Given the description of an element on the screen output the (x, y) to click on. 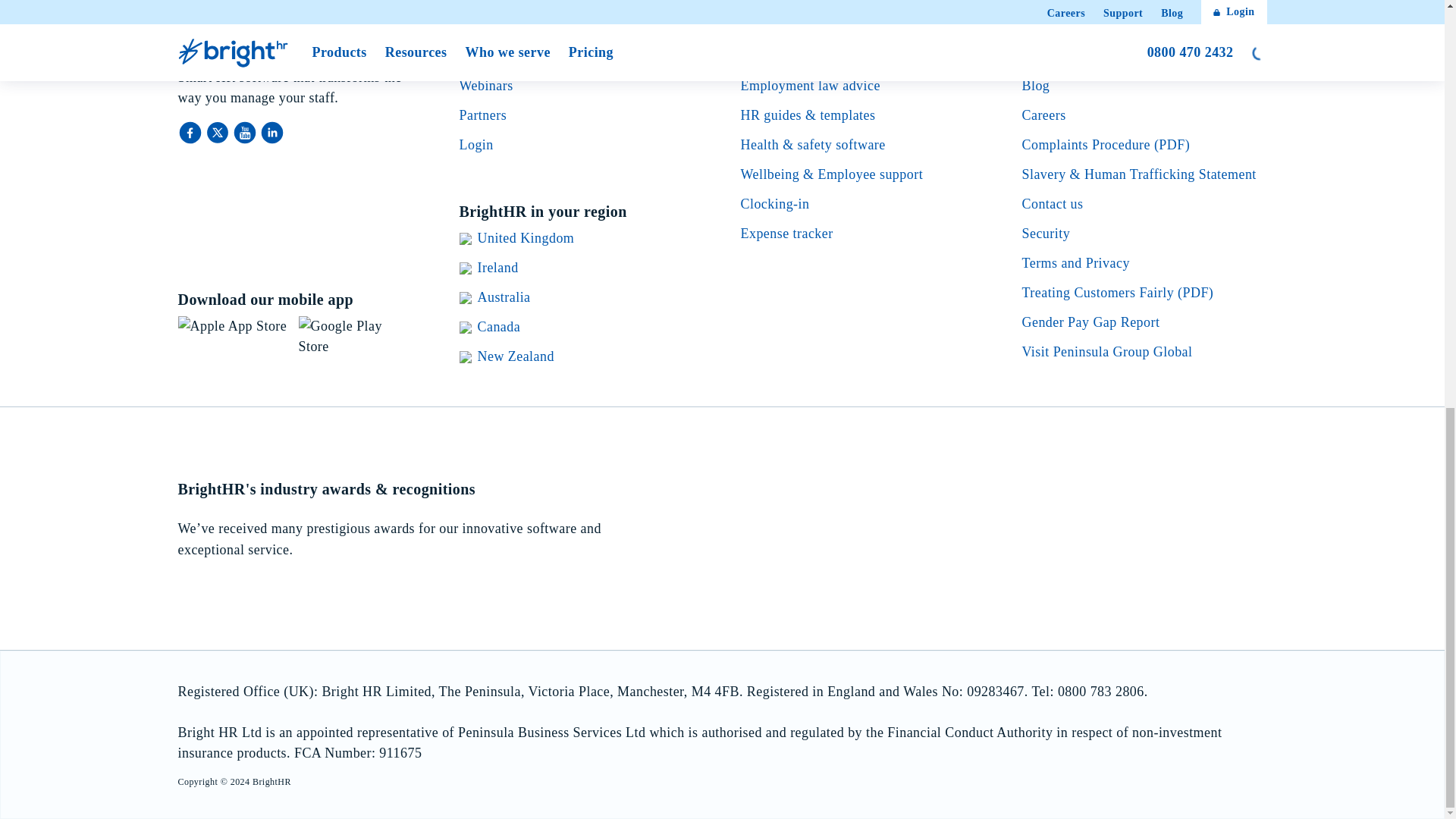
Twitter (218, 132)
Employment law advice (809, 85)
Facebook (191, 132)
HR software (775, 55)
Webinars (486, 85)
Careers (1043, 114)
Partners (483, 114)
About Us (1049, 55)
Youtube (245, 132)
LinkedIn (271, 132)
Login (476, 144)
Expense tracker (785, 233)
Clocking-in (774, 203)
Get Help (486, 55)
Blog (1035, 85)
